Given the description of an element on the screen output the (x, y) to click on. 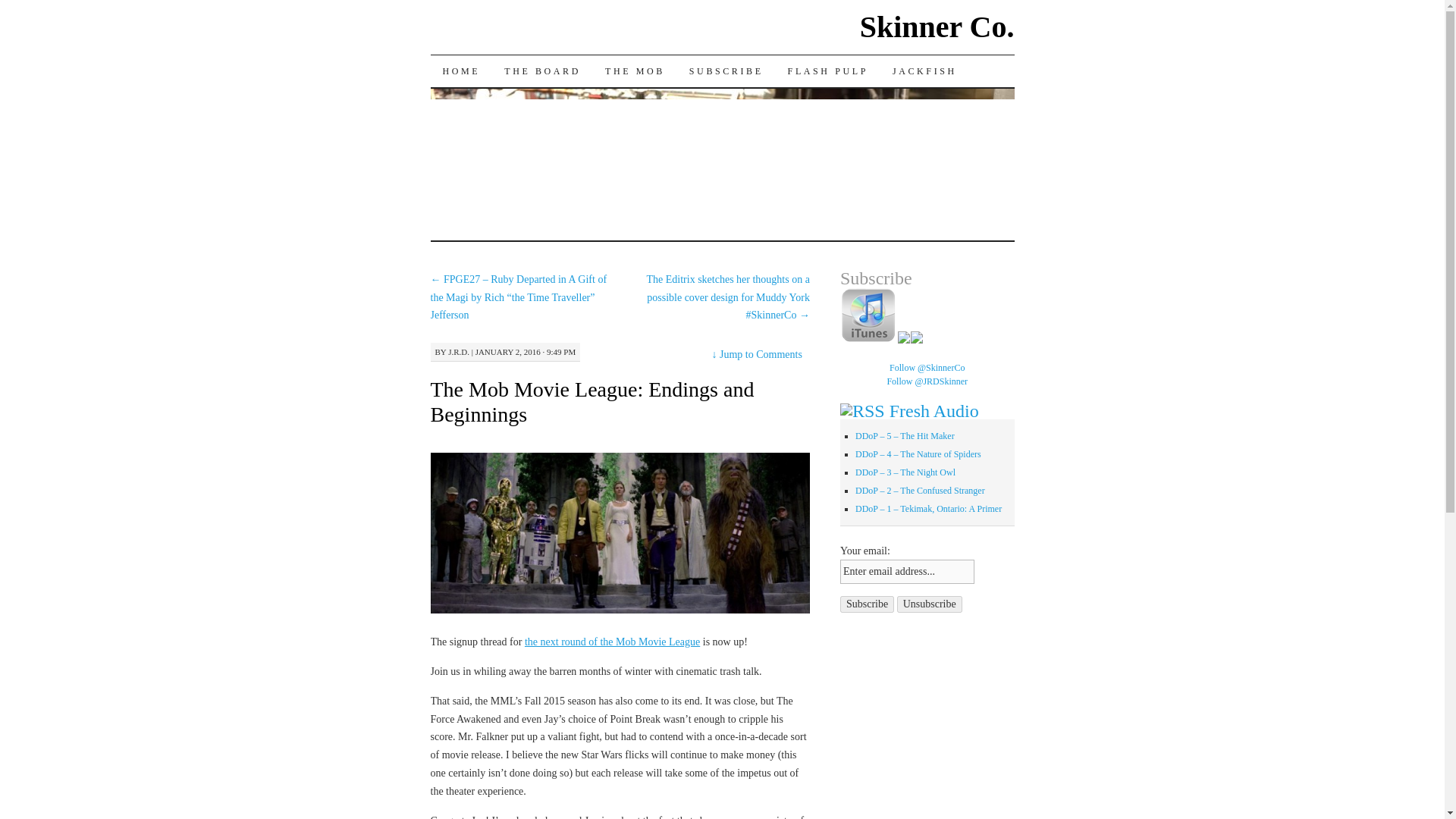
SUBSCRIBE (726, 70)
Unsubscribe (929, 604)
The Mob Movie League: Endings and Beginnings (592, 401)
Enter email address... (907, 571)
Skinner Co. (937, 26)
Subscribe (866, 604)
THE MOB (634, 70)
Skinner Co. (937, 26)
HOME (461, 70)
FLASH PULP (828, 70)
